Given the description of an element on the screen output the (x, y) to click on. 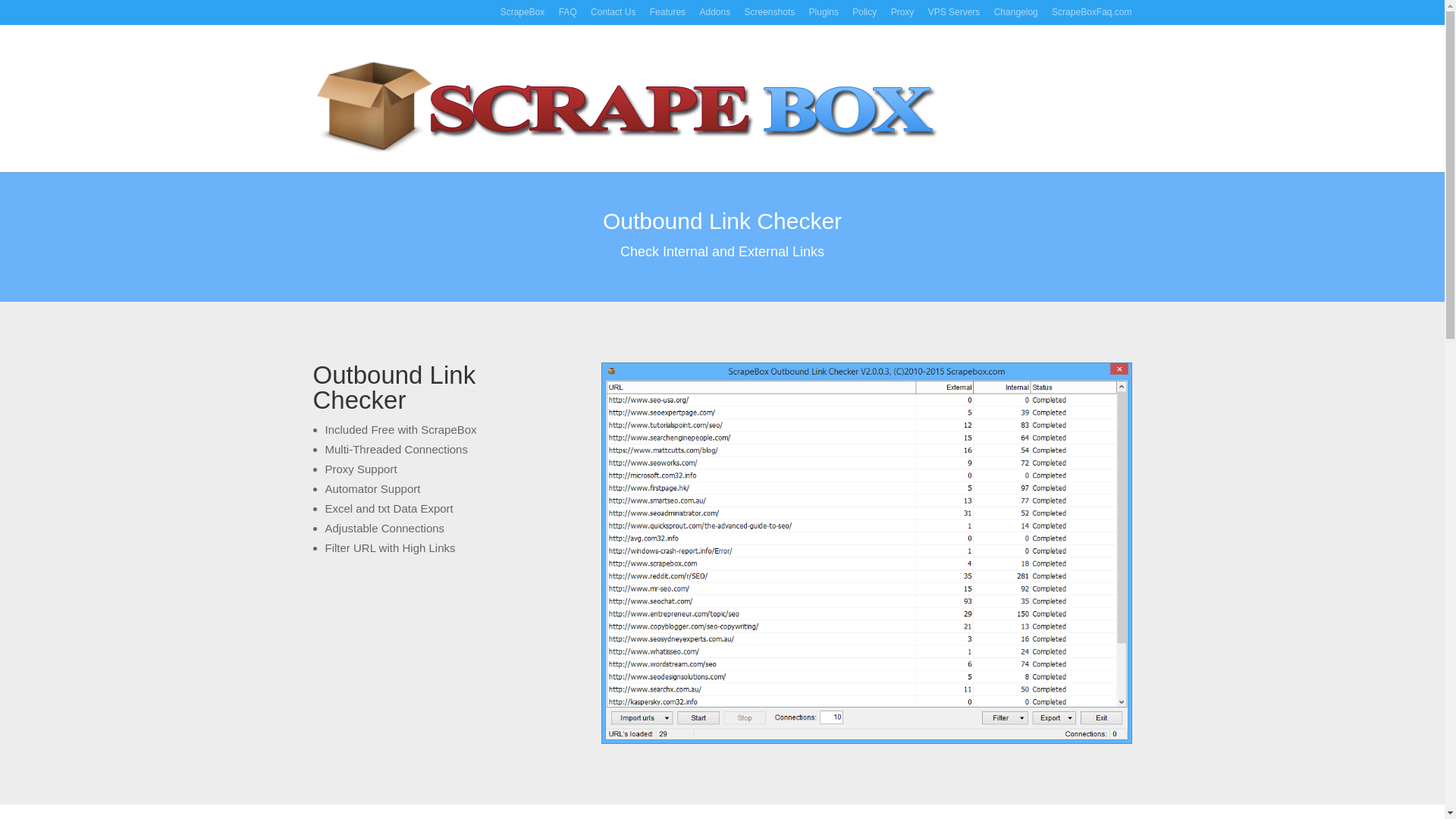
VPS Servers (953, 16)
Plugins (823, 16)
Changelog (1016, 16)
ScrapeBoxFaq.com (1091, 16)
Addons (714, 16)
Contact Us (612, 16)
Policy (863, 16)
FAQ (567, 16)
Screenshots (769, 16)
ScrapeBox (522, 16)
